Given the description of an element on the screen output the (x, y) to click on. 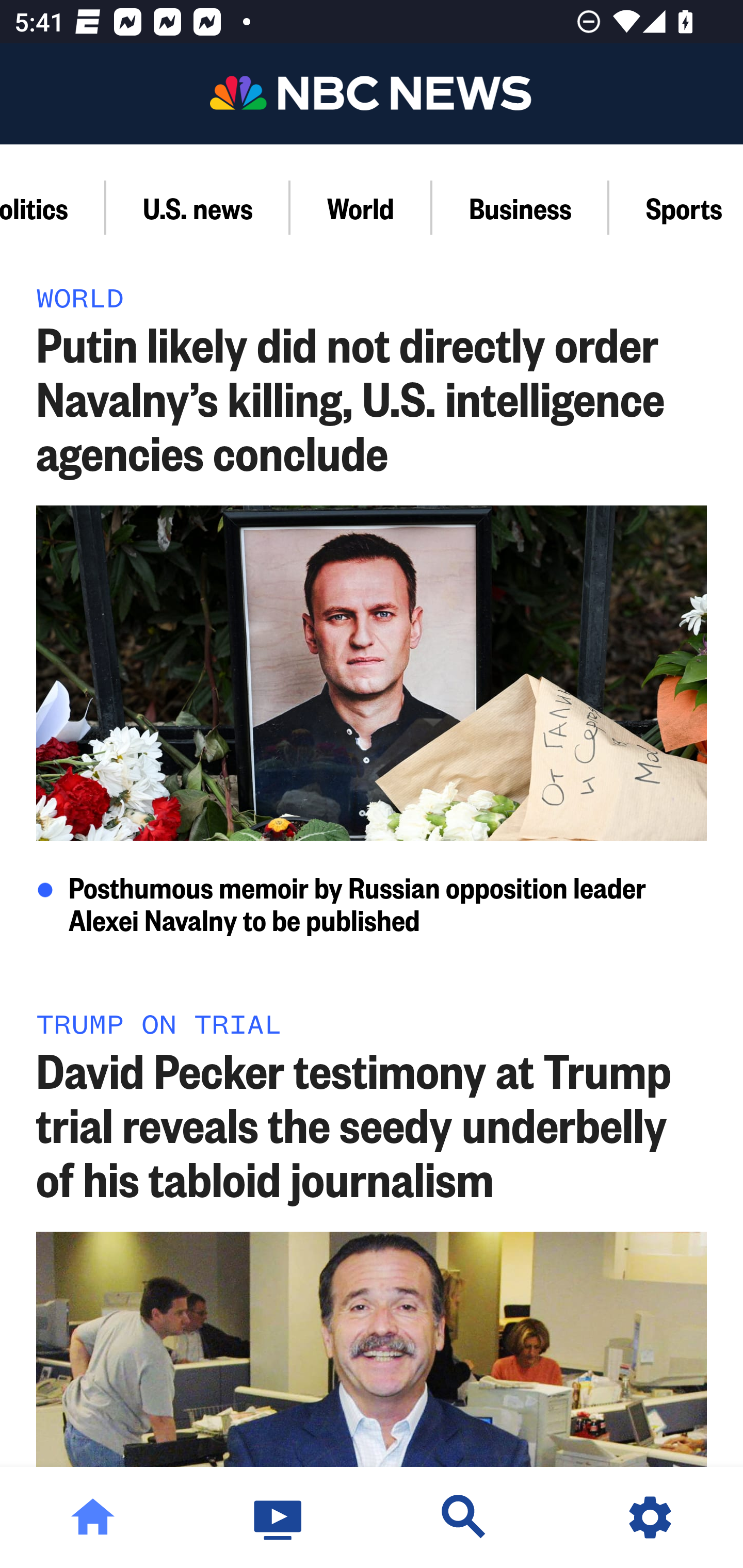
Politics Section,Politics (53, 207)
U.S. news Section,U.S. news (198, 207)
World Section,World (361, 207)
Business Section,Business (520, 207)
Sports Section,Sports (676, 207)
Watch (278, 1517)
Discover (464, 1517)
Settings (650, 1517)
